Given the description of an element on the screen output the (x, y) to click on. 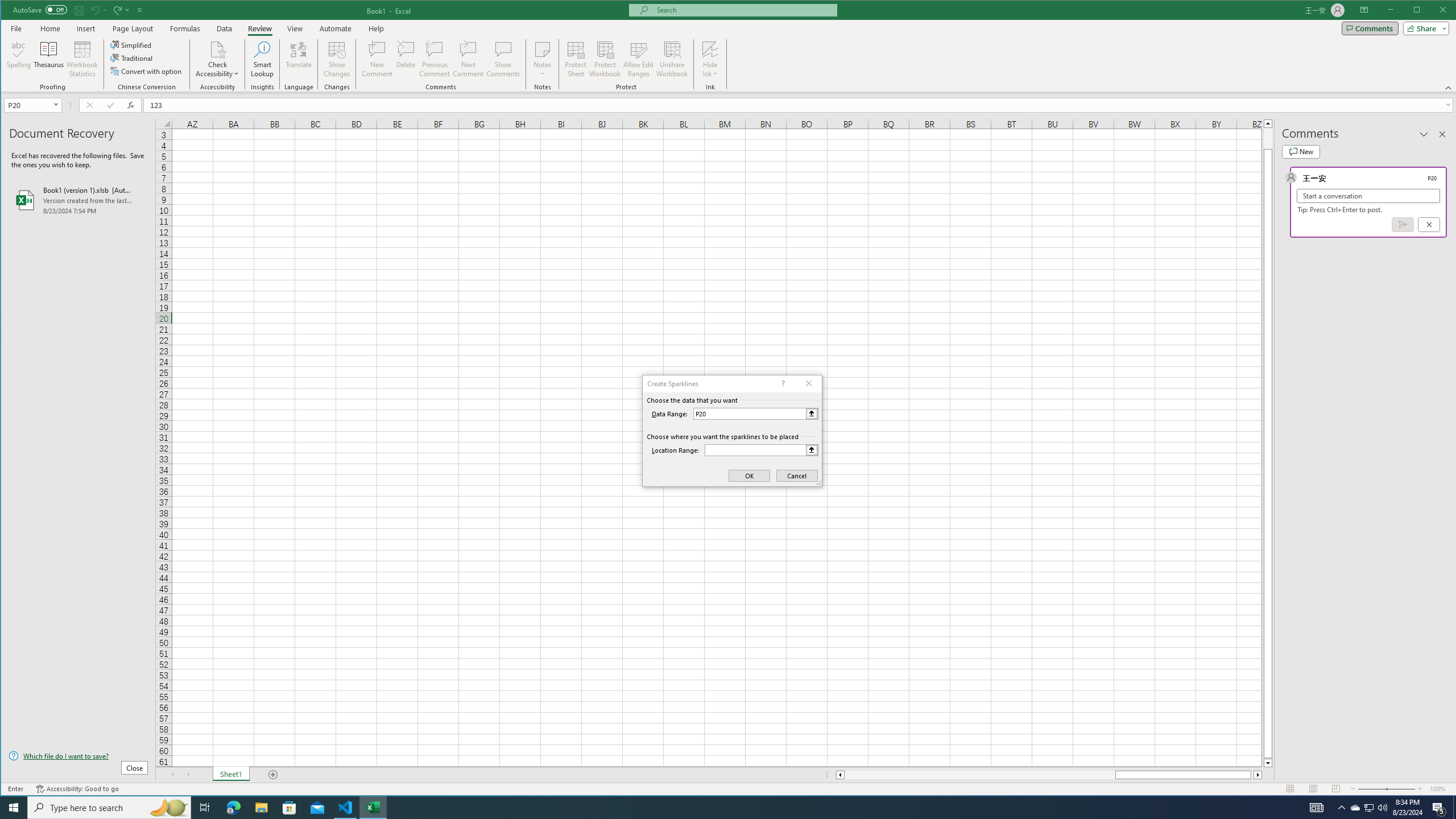
Class: MsoCommandBar (728, 45)
New Comment (377, 59)
Smart Lookup (261, 59)
Normal (1290, 788)
Microsoft search (742, 10)
Page Layout (1312, 788)
Automate (336, 28)
New comment (1300, 151)
View (294, 28)
Check Accessibility (217, 59)
Redo (116, 9)
Undo (94, 9)
Name Box (32, 105)
Scroll Right (188, 774)
